Given the description of an element on the screen output the (x, y) to click on. 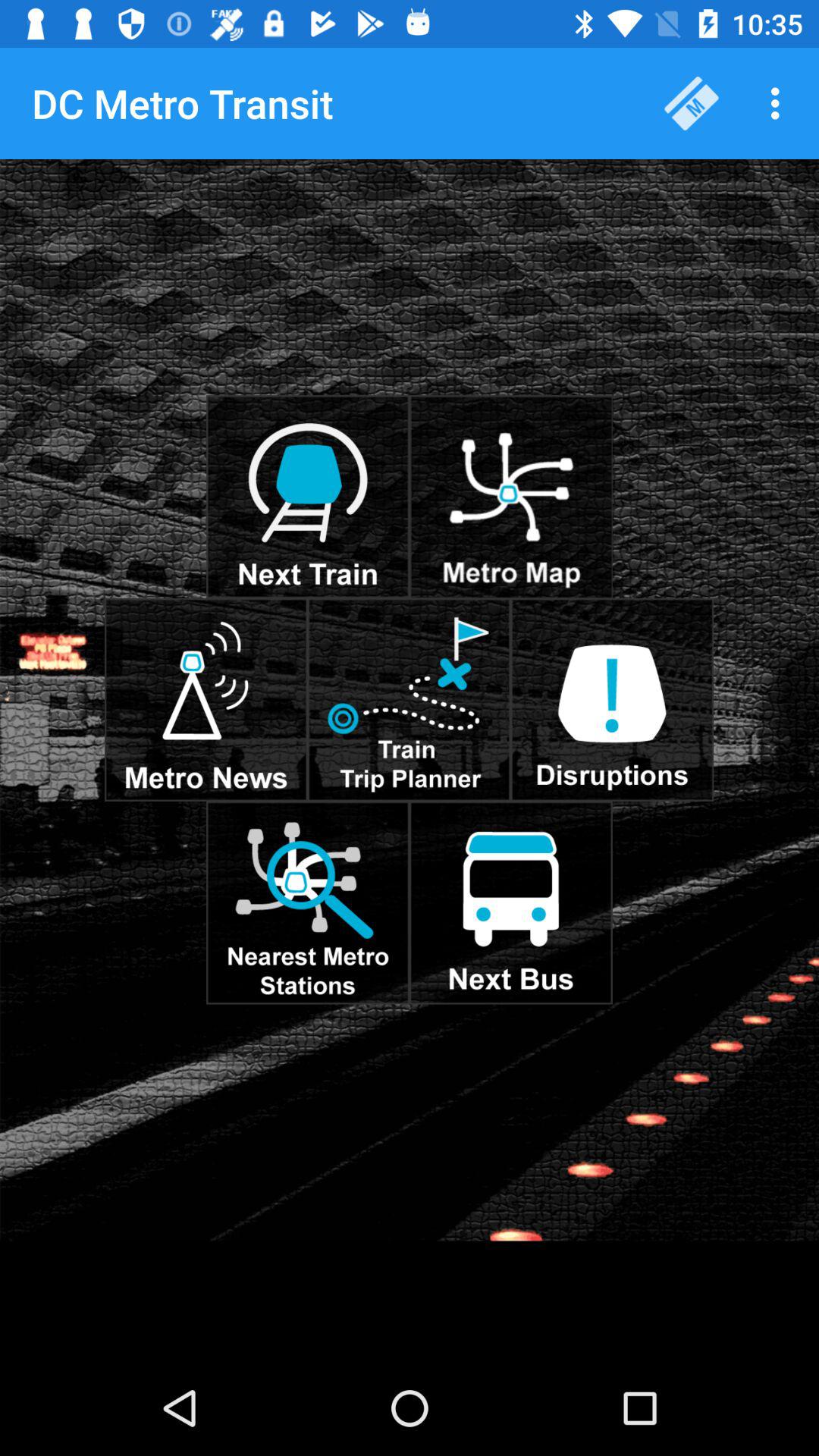
see the map (510, 496)
